Given the description of an element on the screen output the (x, y) to click on. 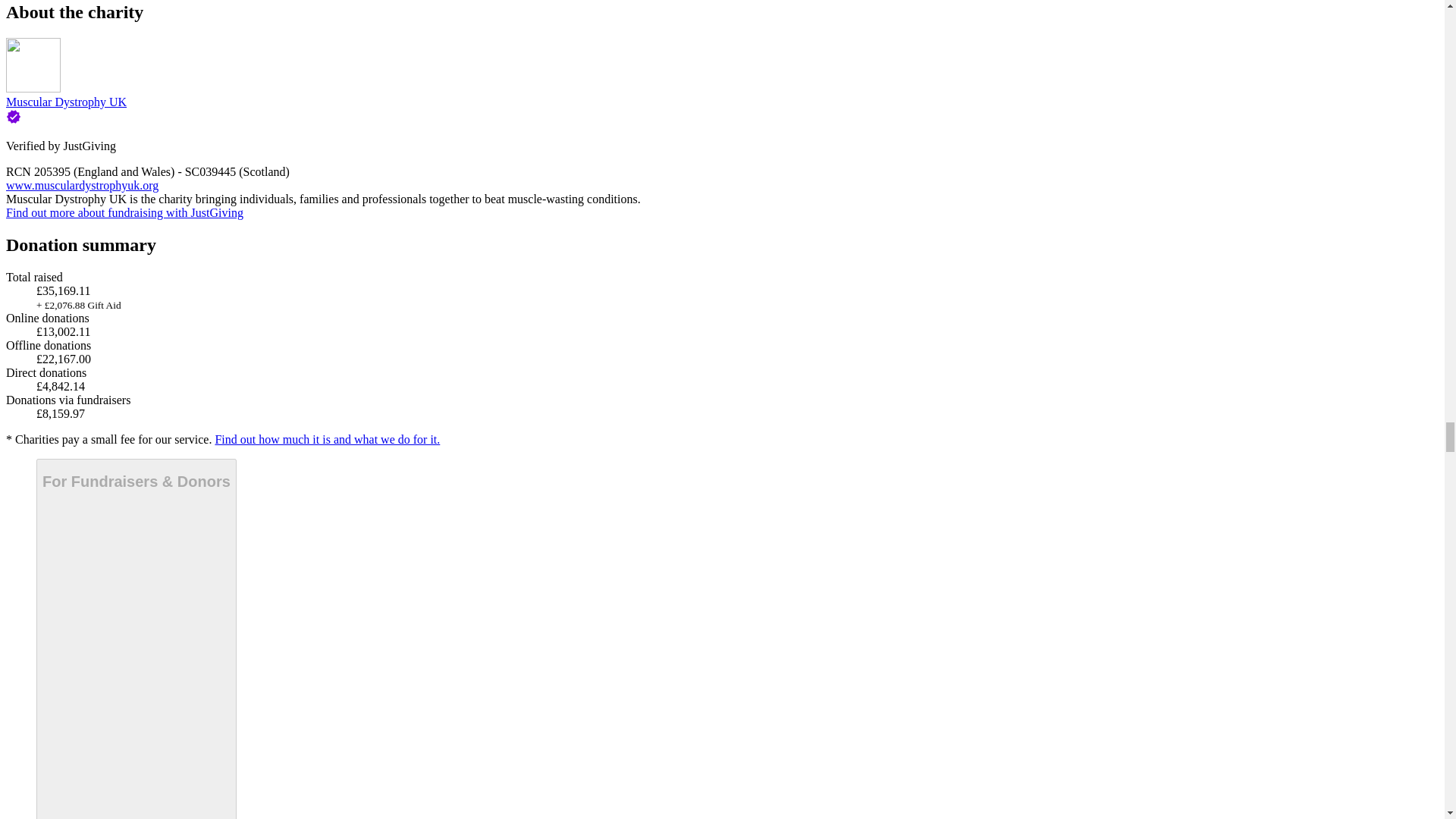
Muscular Dystrophy UK (65, 101)
Find out more about fundraising with JustGiving (124, 212)
www.musculardystrophyuk.org (81, 185)
Find out how much it is and what we do for it. (326, 439)
